Given the description of an element on the screen output the (x, y) to click on. 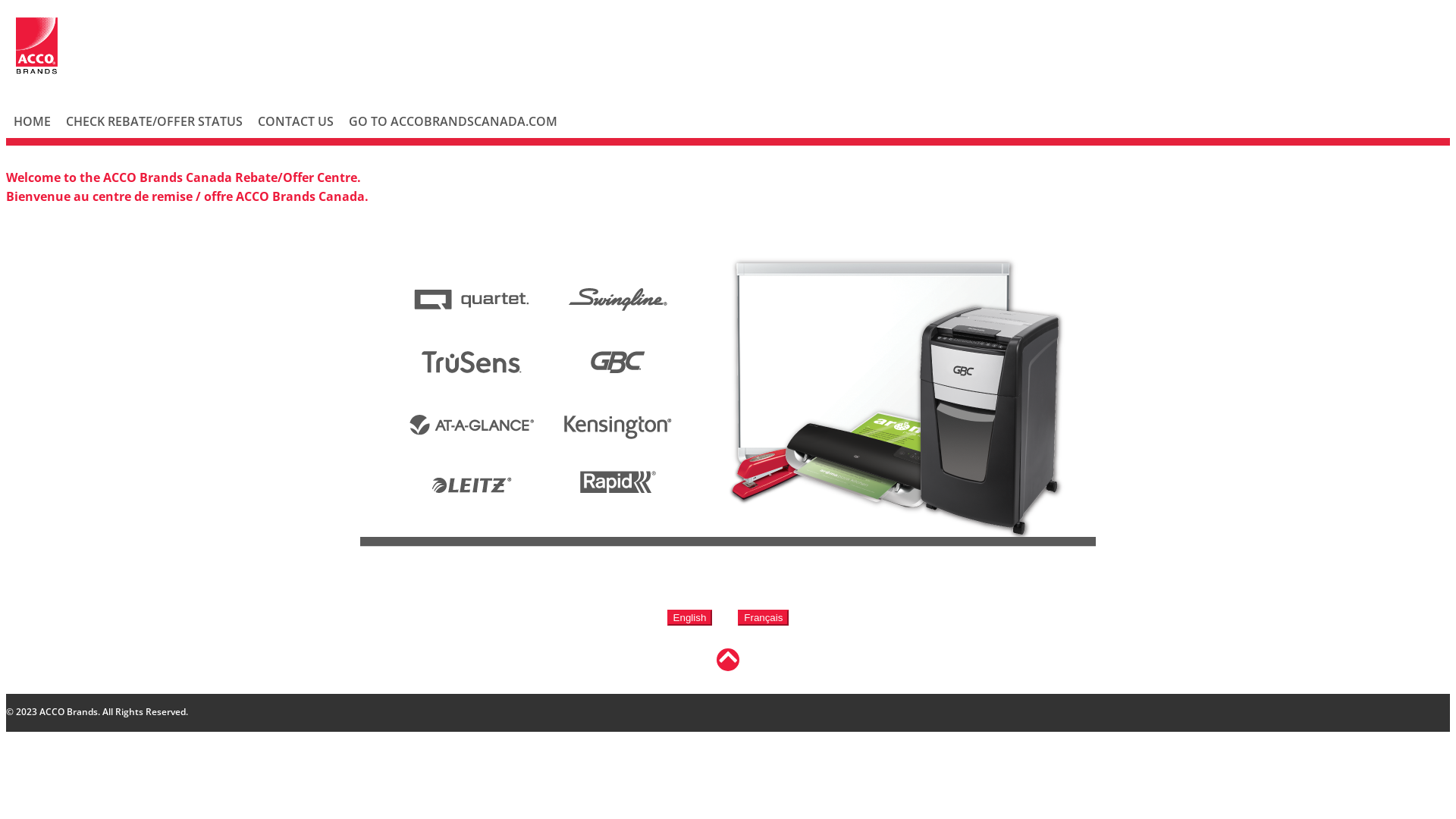
HOME Element type: text (32, 121)
English Element type: text (689, 617)
English Element type: text (689, 616)
CONTACT US Element type: text (295, 121)
GO TO ACCOBRANDSCANADA.COM Element type: text (452, 121)
CHECK REBATE/OFFER STATUS Element type: text (154, 121)
